Given the description of an element on the screen output the (x, y) to click on. 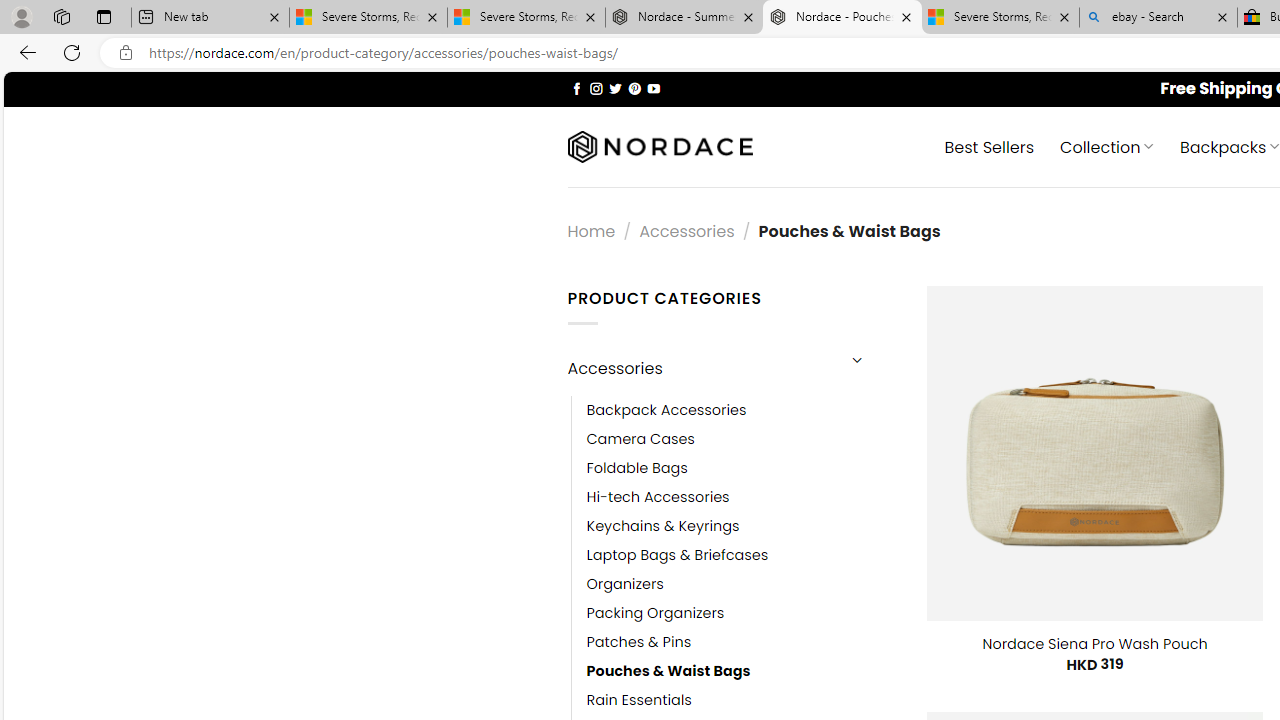
Nordace Siena Pro Wash Pouch (1094, 643)
Rain Essentials (742, 700)
Laptop Bags & Briefcases (742, 555)
Pouches & Waist Bags (668, 671)
Follow on YouTube (653, 88)
Patches & Pins (639, 642)
Foldable Bags (637, 467)
Follow on Twitter (615, 88)
Follow on Facebook (576, 88)
